Given the description of an element on the screen output the (x, y) to click on. 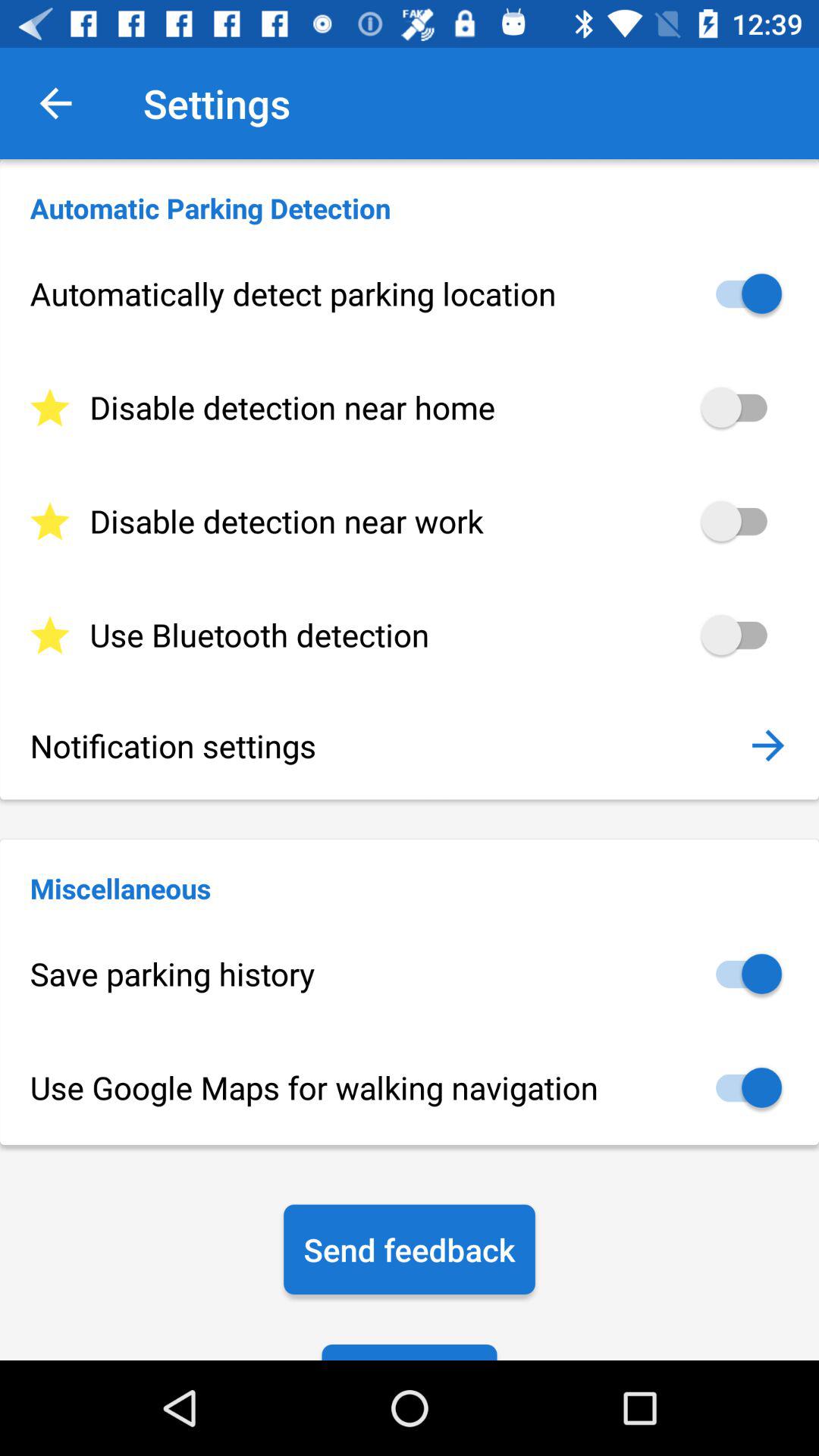
launch the icon below disable detection near icon (409, 634)
